Given the description of an element on the screen output the (x, y) to click on. 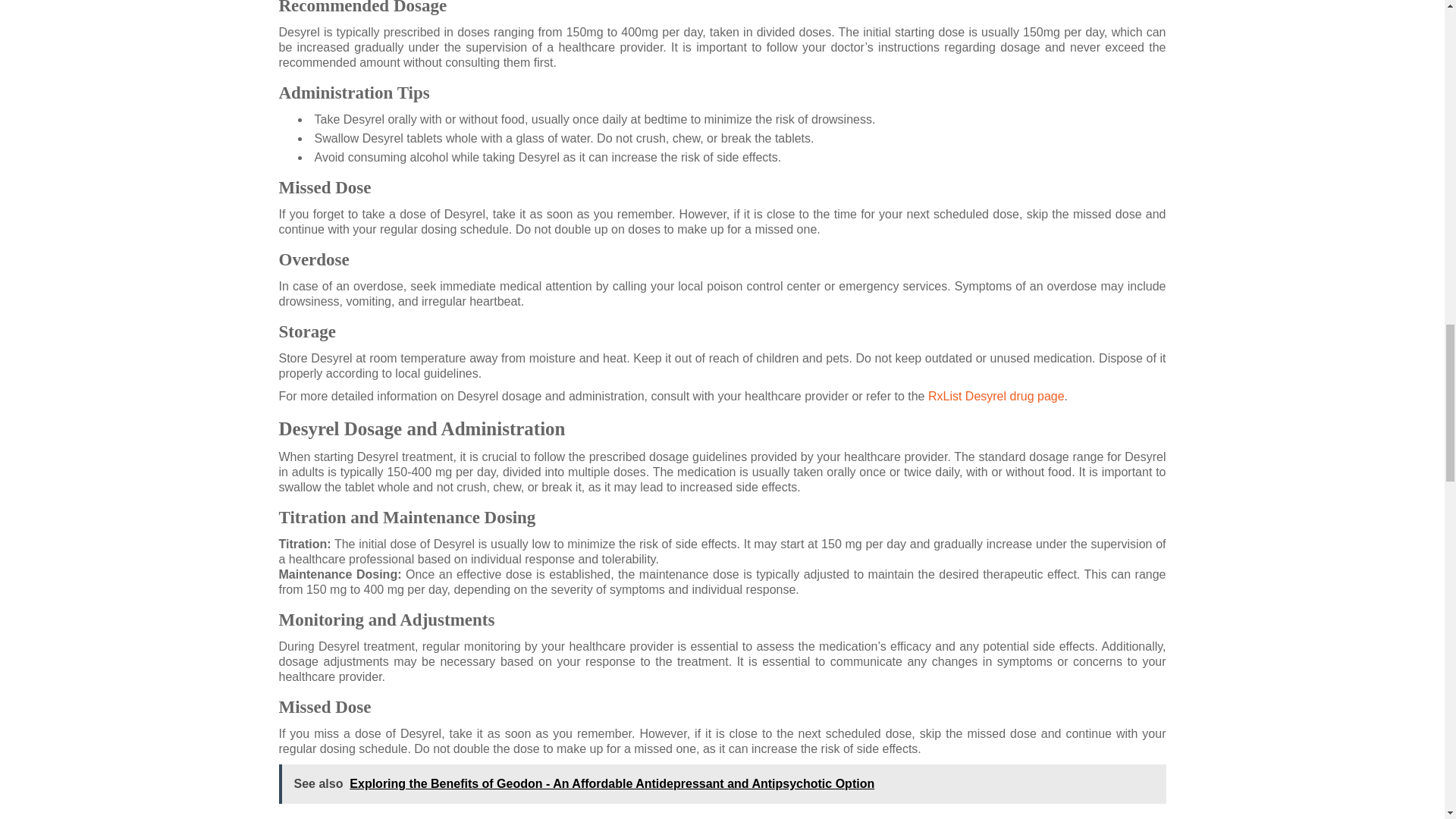
RxList Desyrel drug page (996, 395)
